Given the description of an element on the screen output the (x, y) to click on. 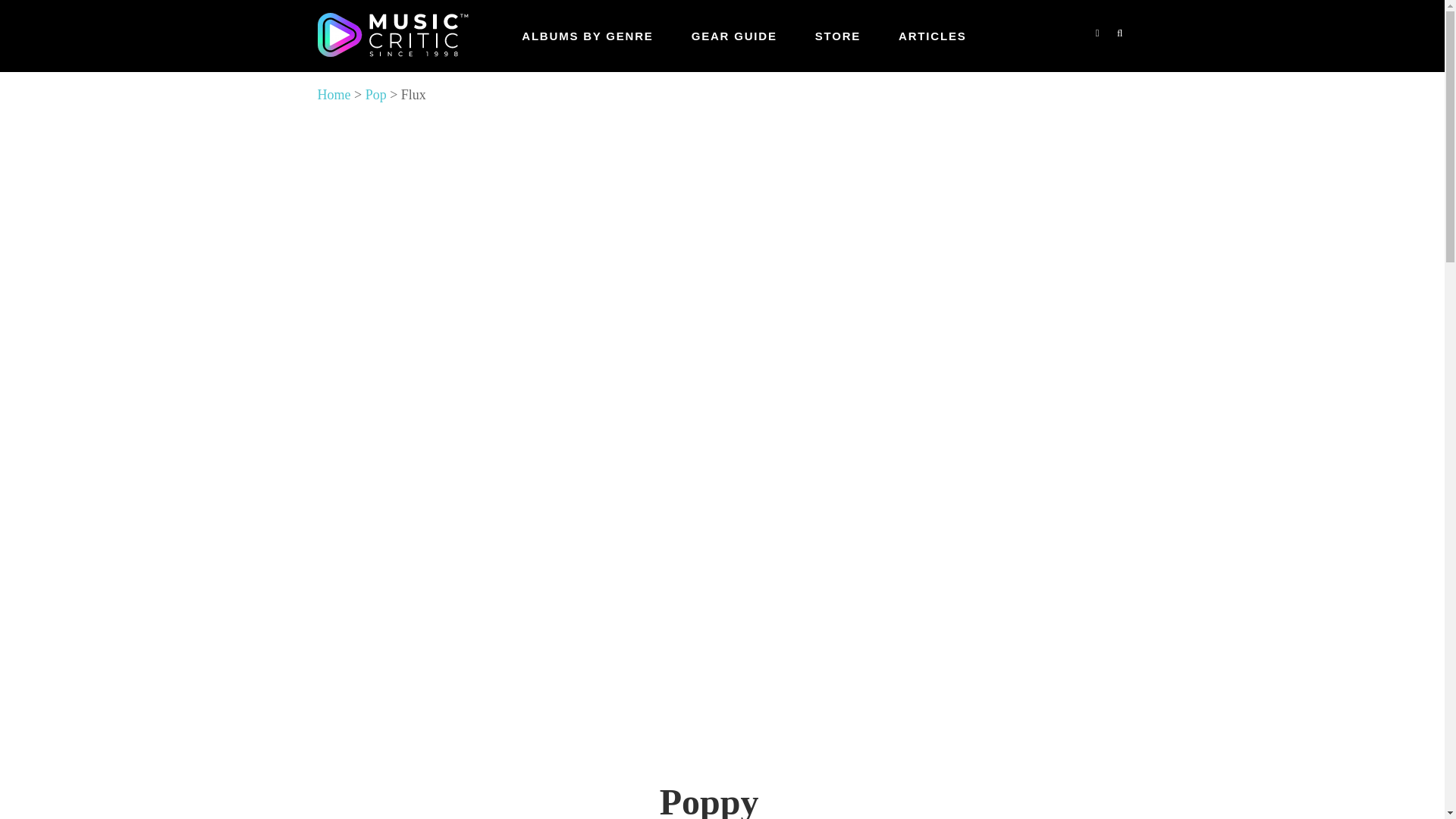
GEAR GUIDE (734, 35)
ARTICLES (932, 35)
STORE (837, 35)
ALBUMS BY GENRE (586, 35)
Home (333, 94)
